Given the description of an element on the screen output the (x, y) to click on. 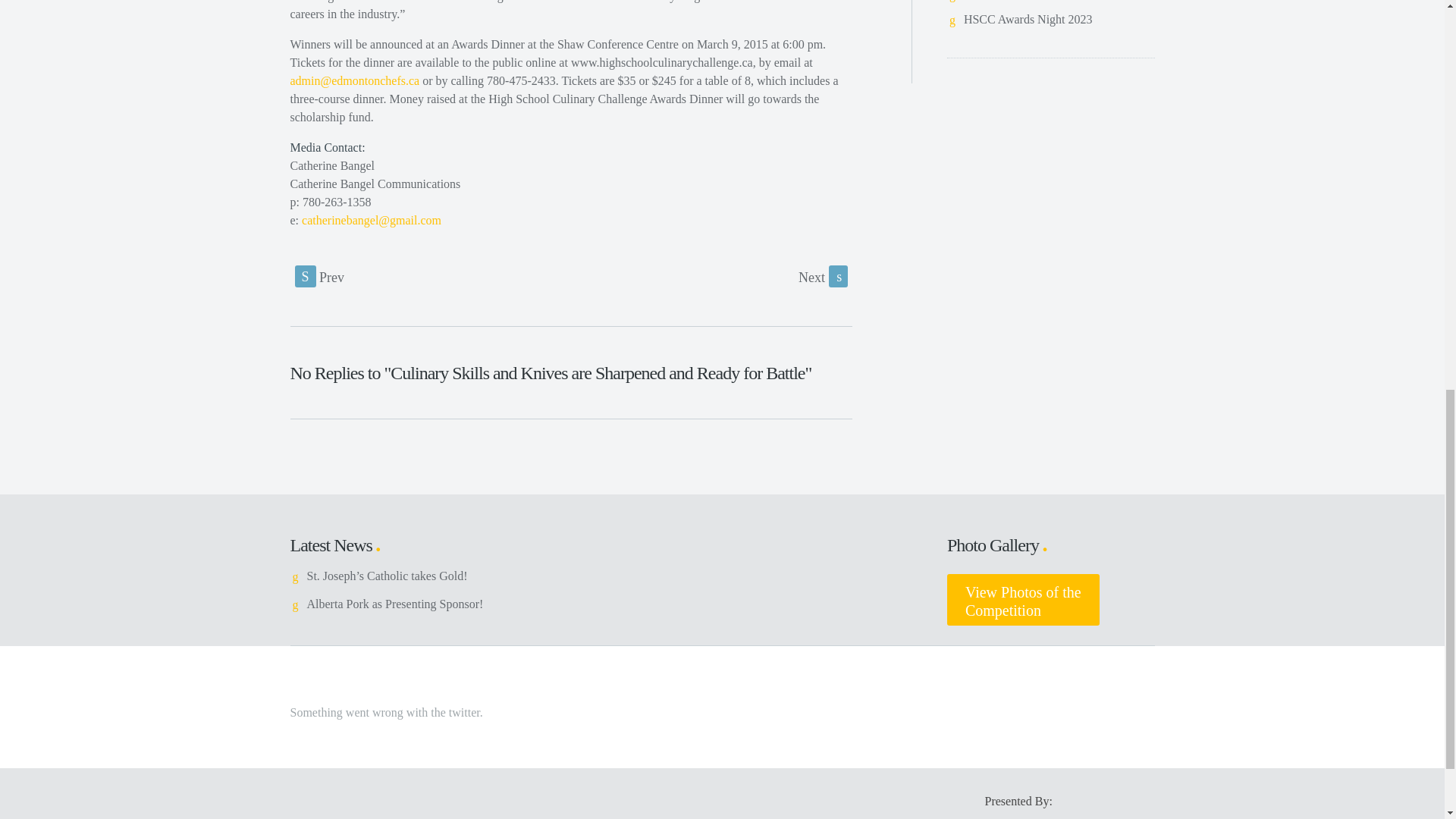
Alberta Pork as Presenting Sponsor! (394, 603)
Next s (1023, 599)
HSCC Awards Night 2023 (822, 276)
S Prev (1028, 19)
